Given the description of an element on the screen output the (x, y) to click on. 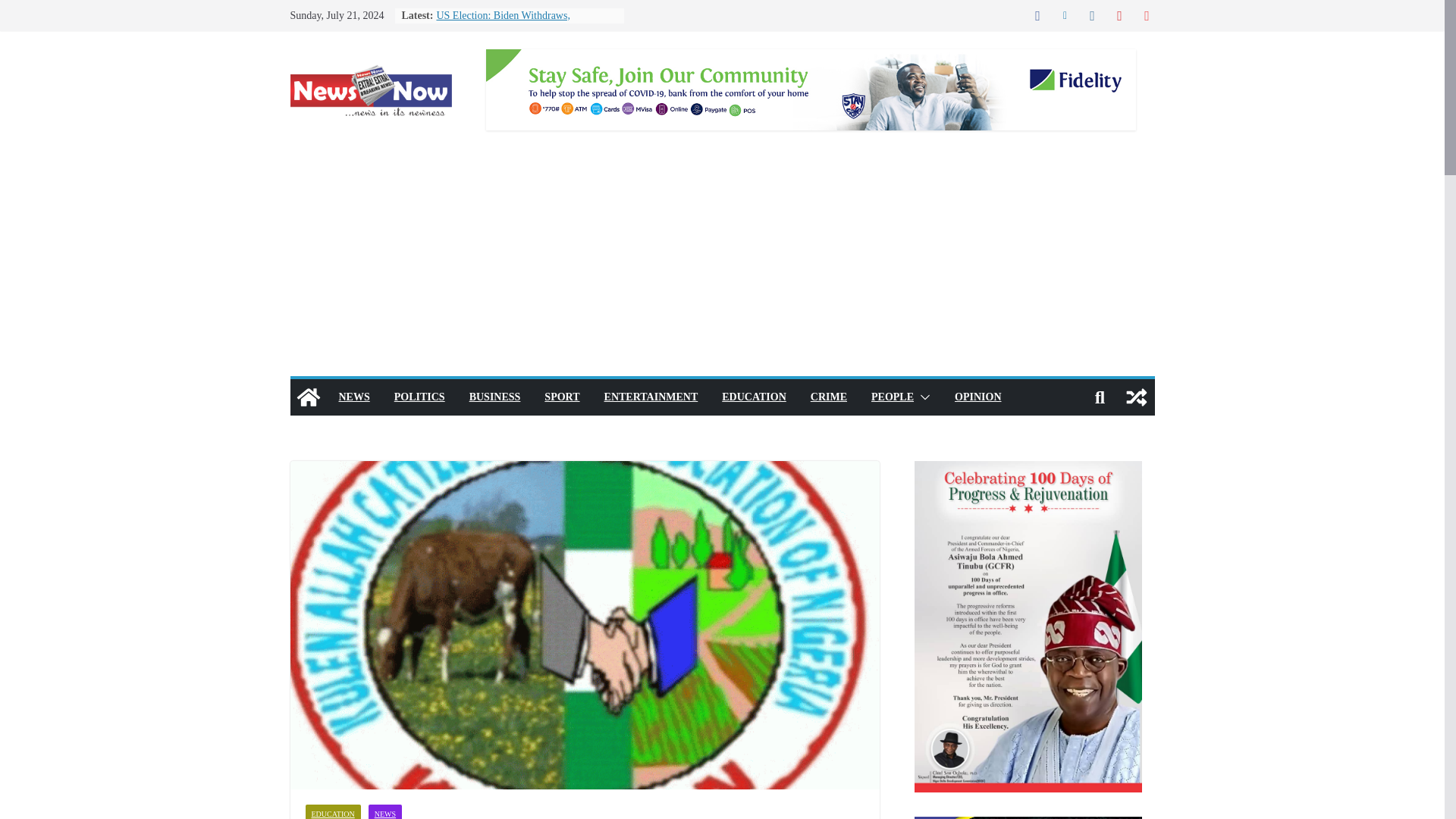
OPINION (978, 396)
PEOPLE (892, 396)
NEWS (384, 811)
EDUCATION (754, 396)
BUSINESS (494, 396)
Newsnowonline (307, 397)
View a random post (1136, 397)
CRIME (828, 396)
POLITICS (419, 396)
SPORT (561, 396)
NEWS (353, 396)
US Election: Biden Withdraws, Nominates Kamala Harris (502, 22)
ENTERTAINMENT (651, 396)
US Election: Biden Withdraws, Nominates Kamala Harris (502, 22)
